Given the description of an element on the screen output the (x, y) to click on. 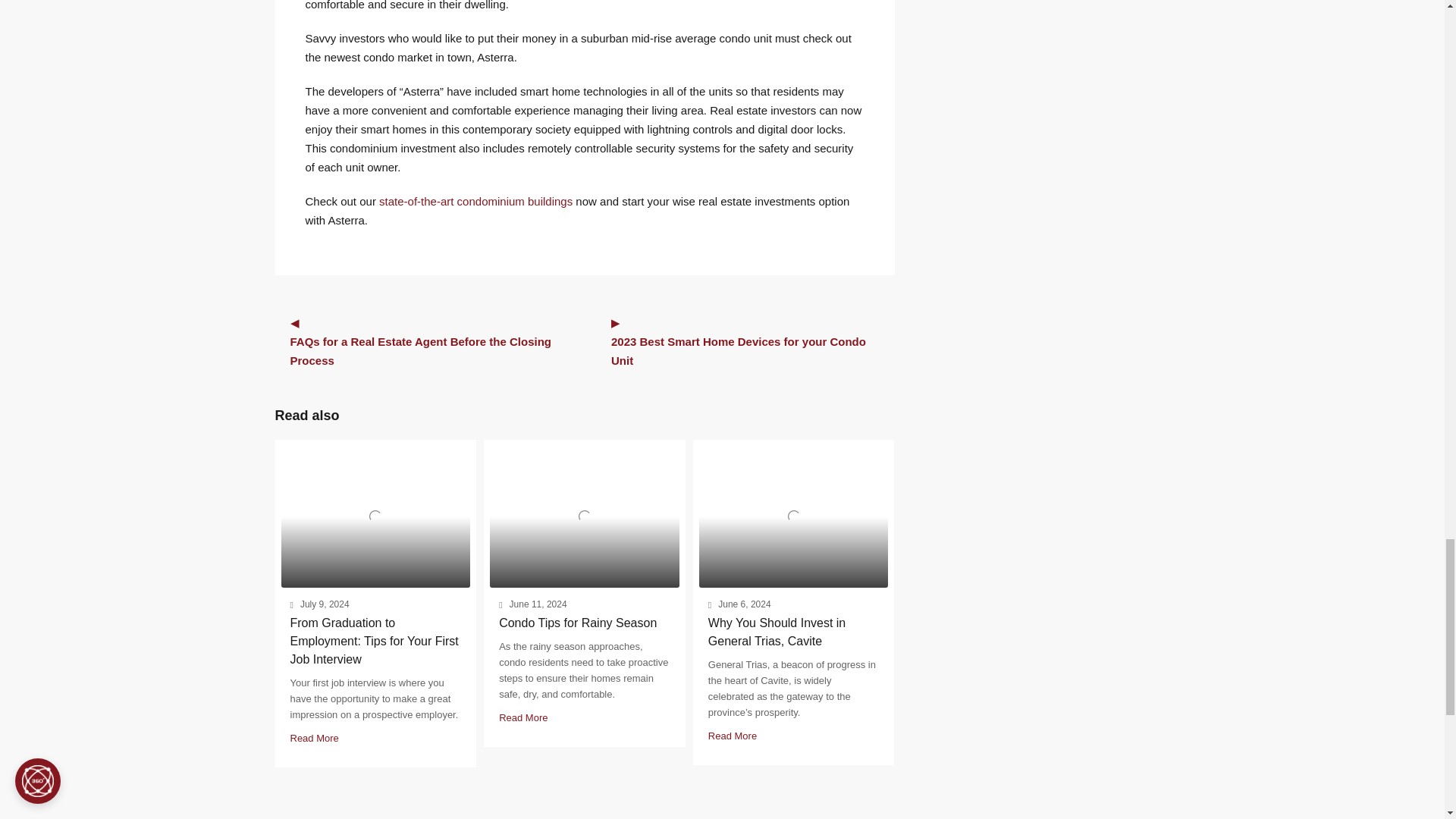
Read More (313, 737)
state-of-the-art condominium buildings (475, 201)
